Given the description of an element on the screen output the (x, y) to click on. 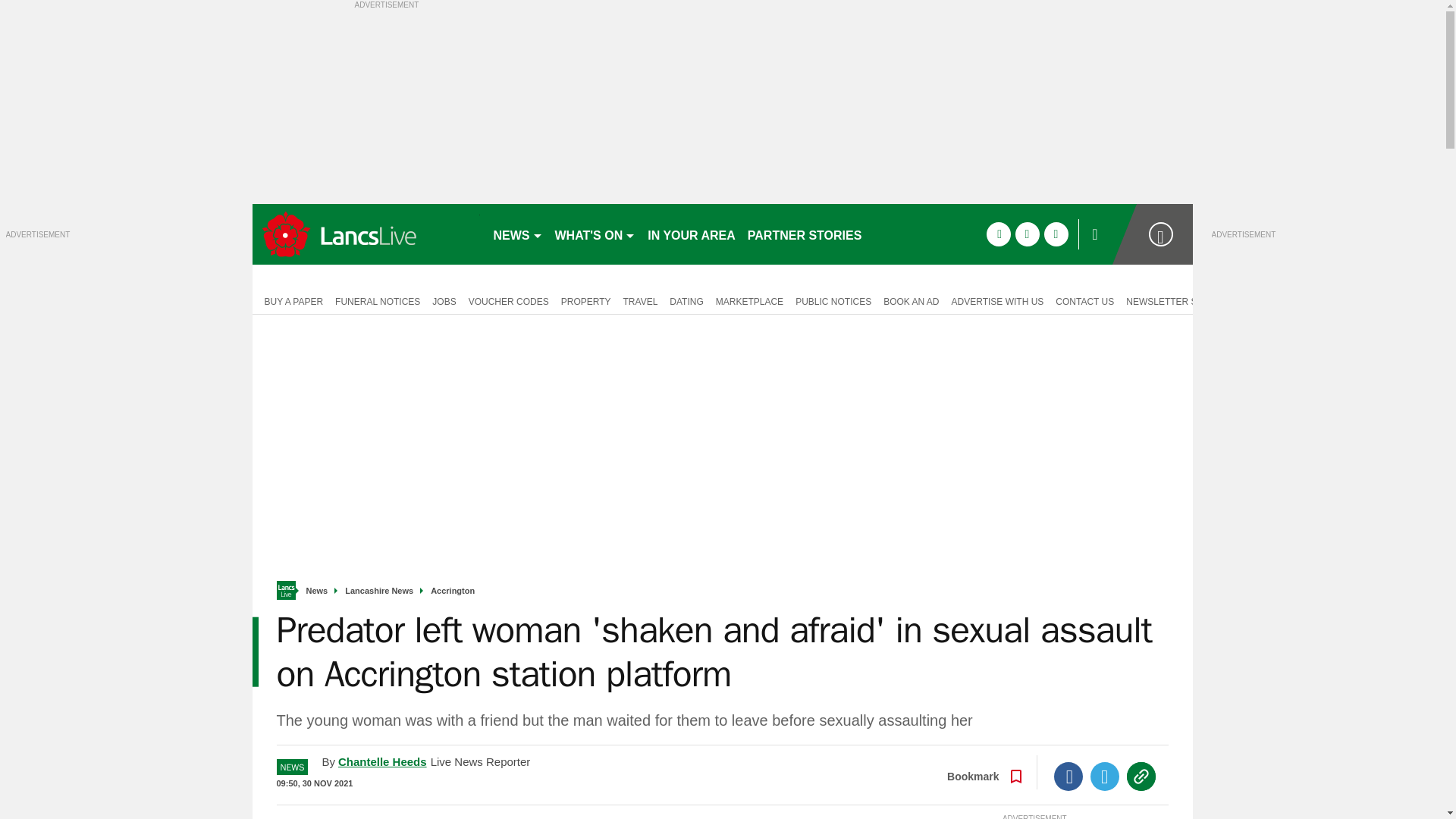
3rd party ad content (118, 333)
BOOK AN AD (910, 300)
facebook (997, 233)
DATING (686, 300)
JOBS (443, 300)
WHAT'S ON (595, 233)
3rd party ad content (1325, 333)
BUY A PAPER (290, 300)
MARKETPLACE (749, 300)
IN YOUR AREA (691, 233)
NEWS (517, 233)
accrington (365, 233)
Twitter (1104, 776)
instagram (1055, 233)
